Given the description of an element on the screen output the (x, y) to click on. 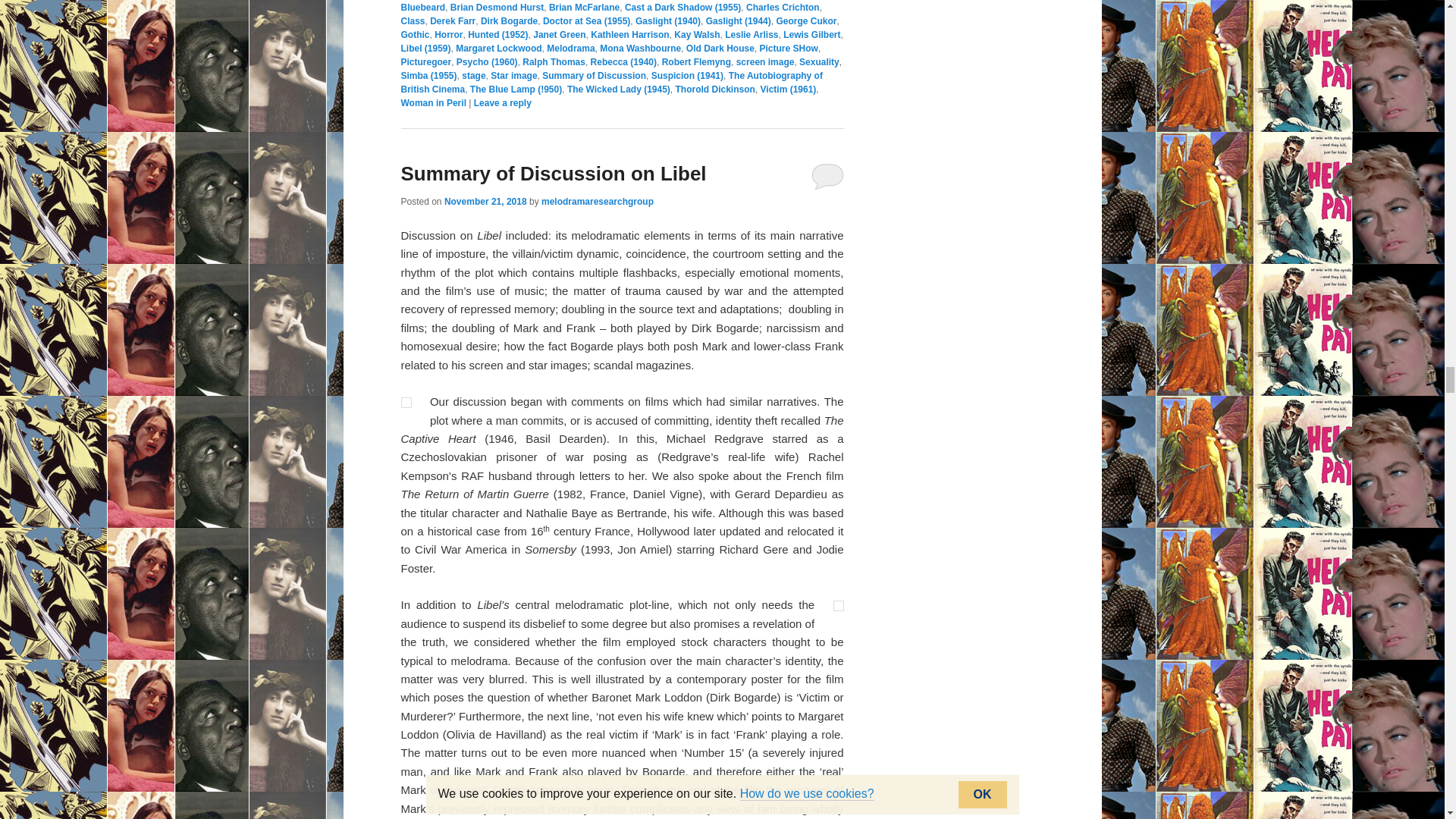
6:29 pm (485, 201)
View all posts by melodramaresearchgroup (597, 201)
